Given the description of an element on the screen output the (x, y) to click on. 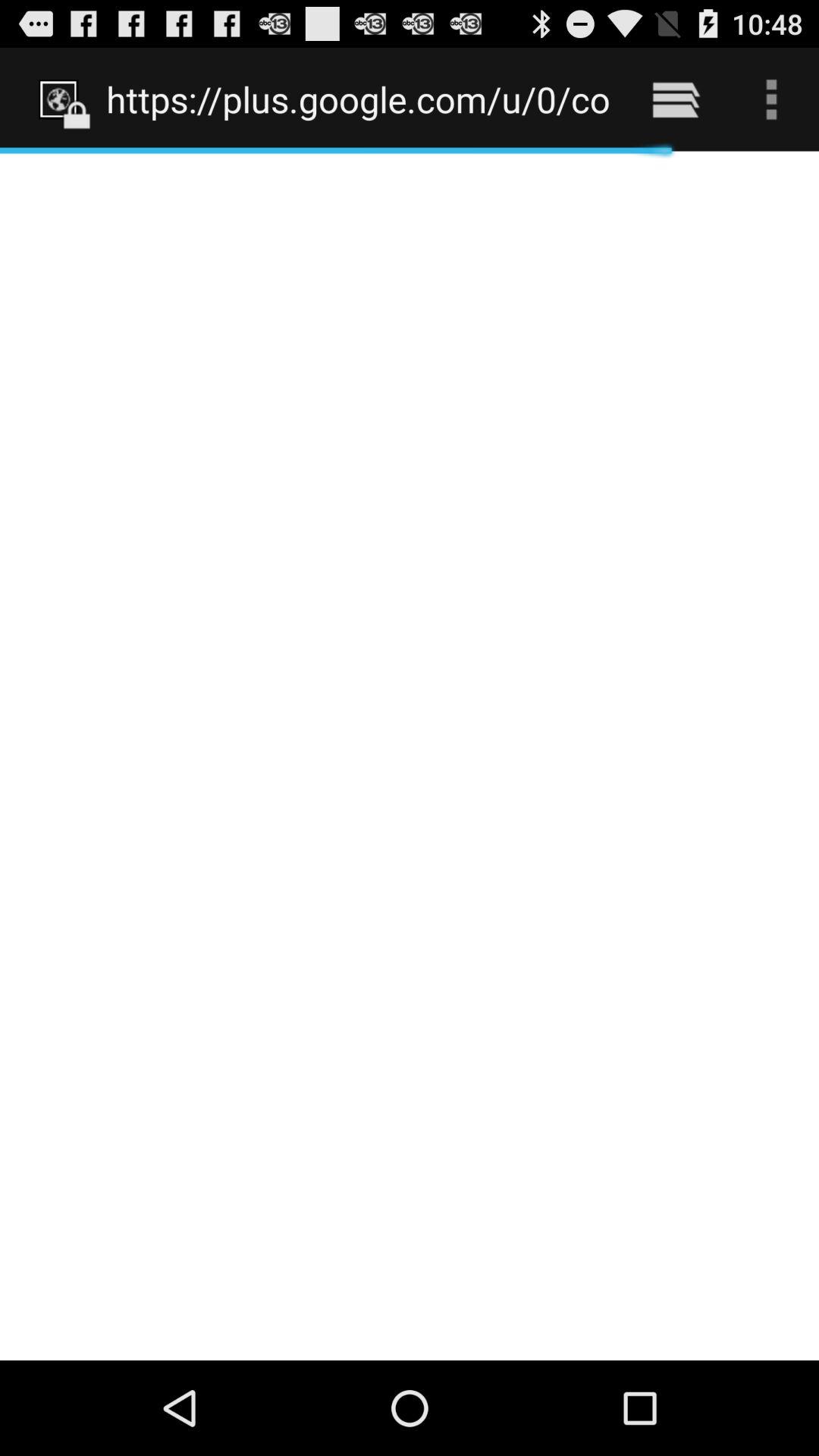
click icon to the right of the https plus google (675, 99)
